Given the description of an element on the screen output the (x, y) to click on. 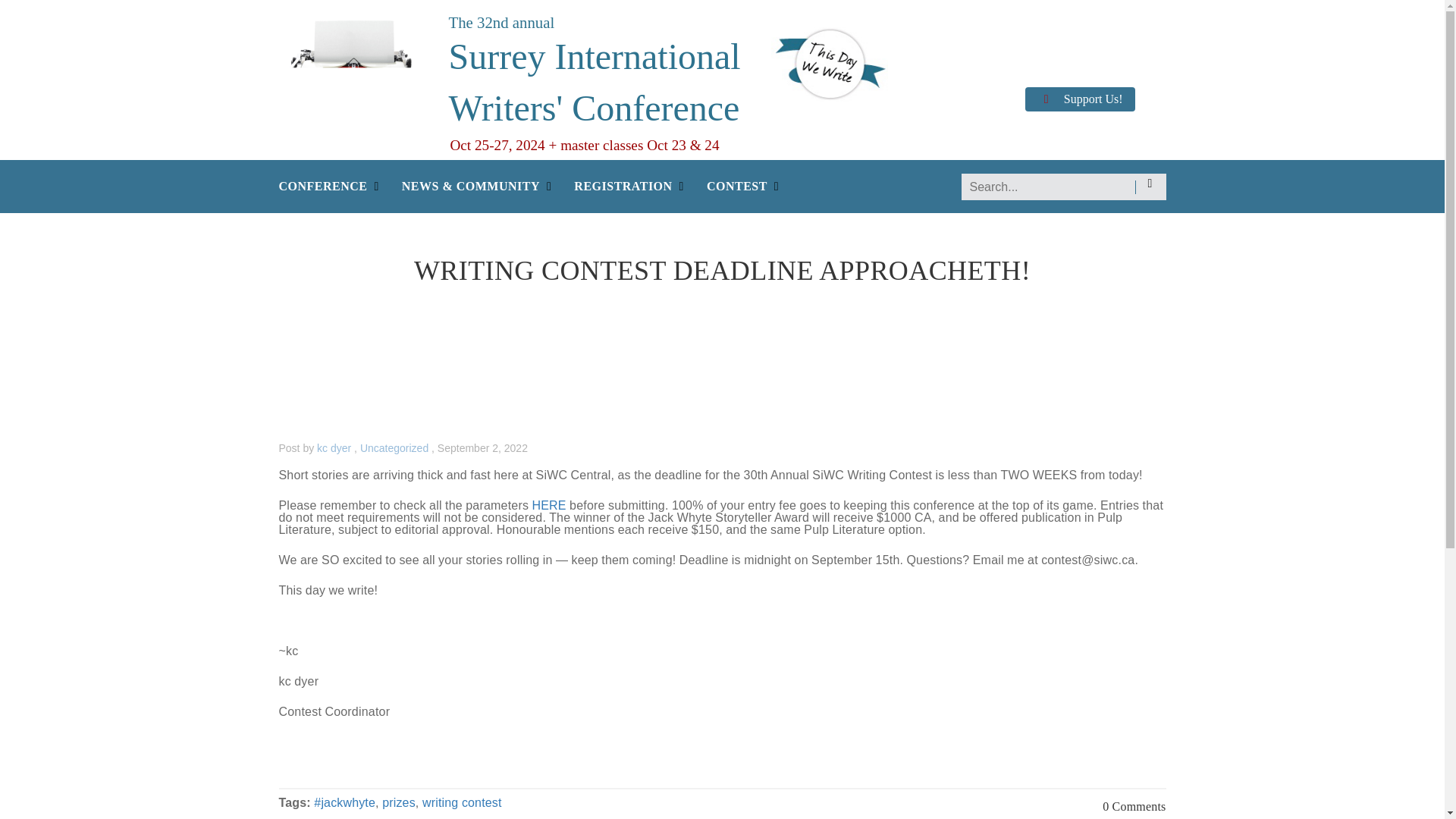
   Support Us! (1079, 97)
Search the site... (1063, 186)
CONFERENCE (323, 192)
